Given the description of an element on the screen output the (x, y) to click on. 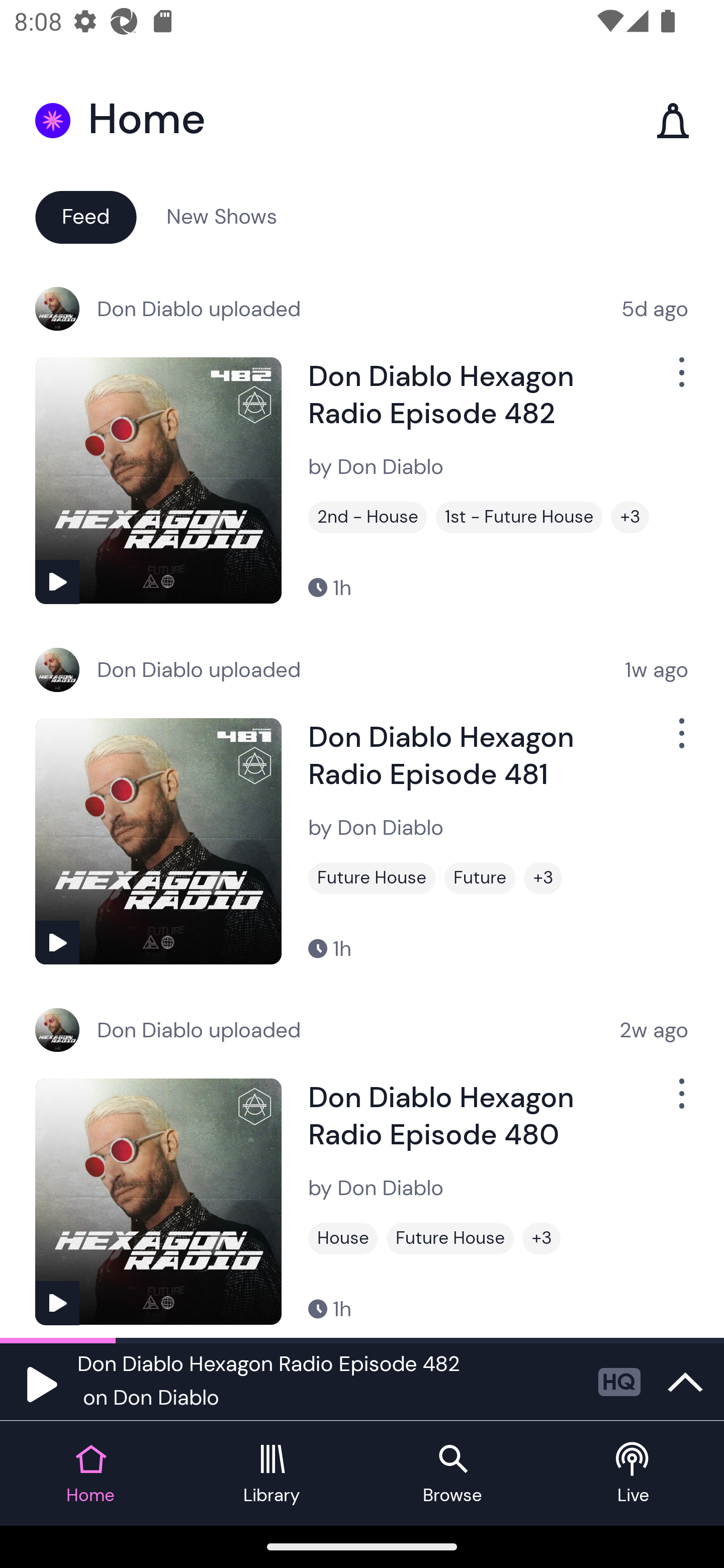
Feed (85, 216)
New Shows (221, 216)
Show Options Menu Button (679, 379)
2nd - House (367, 517)
1st - Future House (518, 517)
Show Options Menu Button (679, 740)
Future House (371, 877)
Future (479, 877)
Show Options Menu Button (679, 1101)
House (342, 1238)
Future House (450, 1238)
Home tab Home (90, 1473)
Library tab Library (271, 1473)
Browse tab Browse (452, 1473)
Live tab Live (633, 1473)
